Given the description of an element on the screen output the (x, y) to click on. 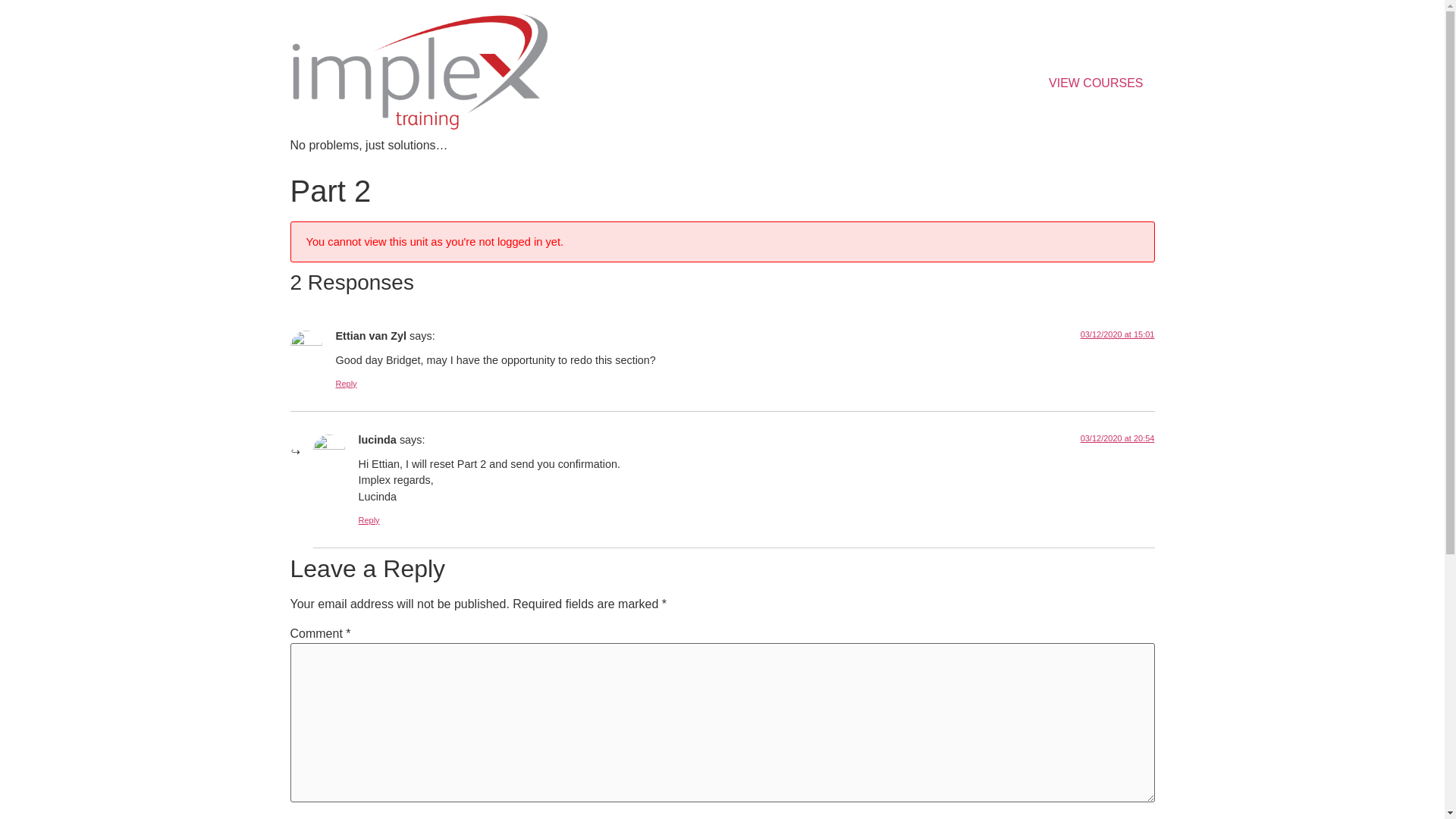
Reply (345, 383)
VIEW COURSES (1095, 82)
Reply (368, 519)
